Given the description of an element on the screen output the (x, y) to click on. 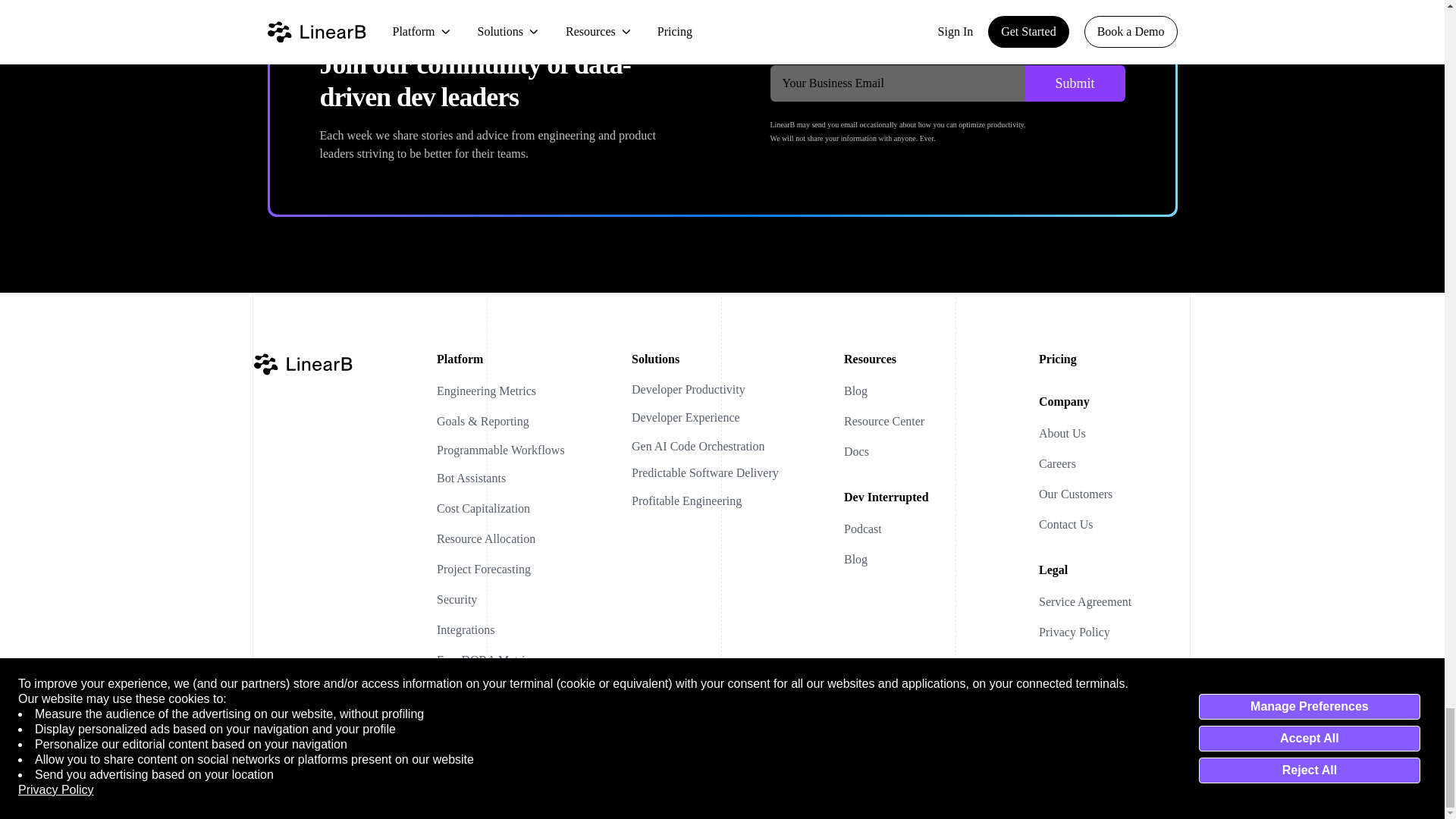
LinearB (302, 363)
